Given the description of an element on the screen output the (x, y) to click on. 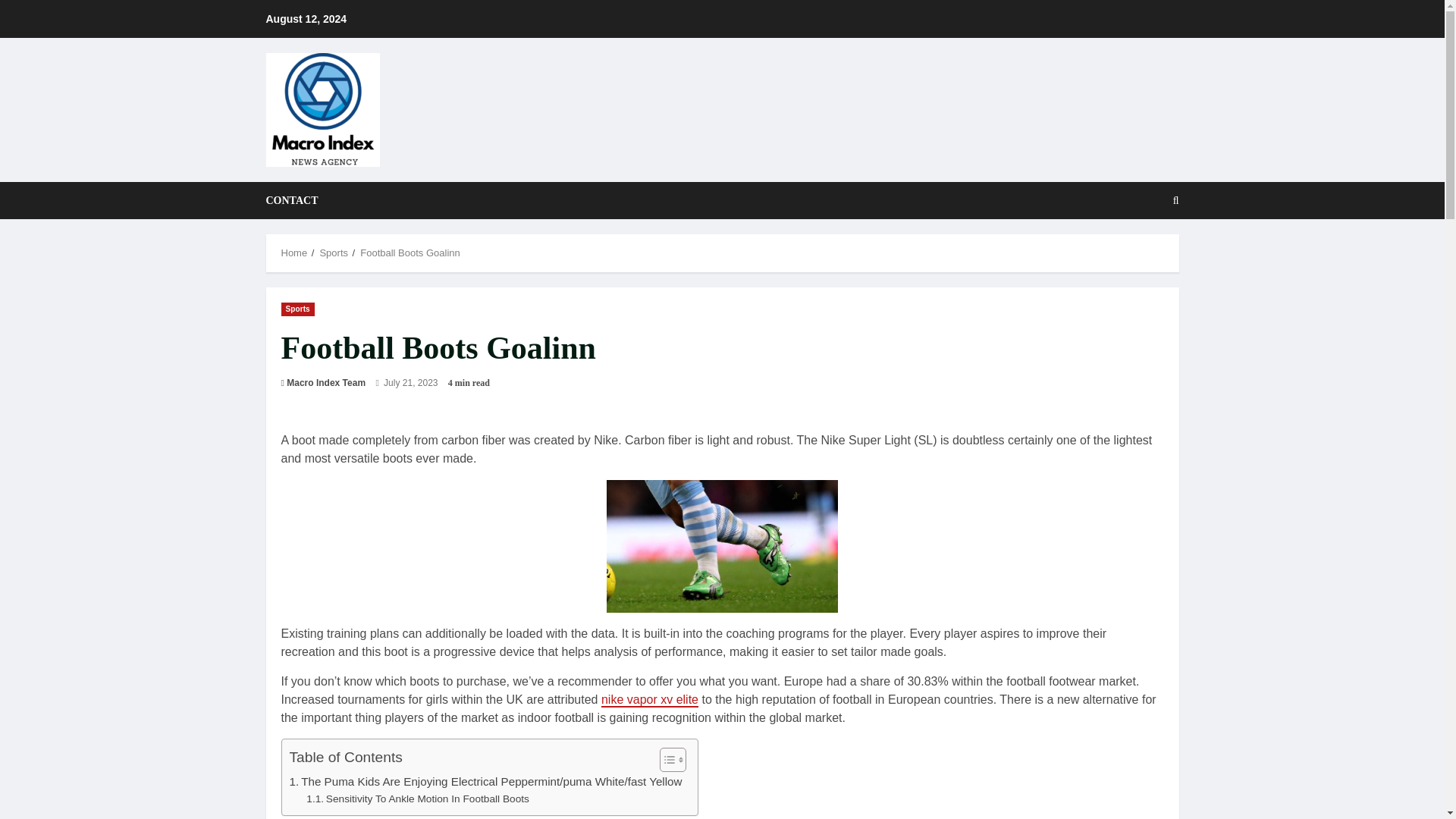
Sports (332, 252)
Search (1139, 252)
nike vapor xv elite (649, 699)
Football Boots Goalinn (409, 252)
Sensitivity To Ankle Motion In Football Boots (417, 799)
Home (294, 252)
Sports (297, 308)
Sensitivity To Ankle Motion In Football Boots (417, 799)
Macro Index Team (325, 382)
CONTACT (290, 200)
